Given the description of an element on the screen output the (x, y) to click on. 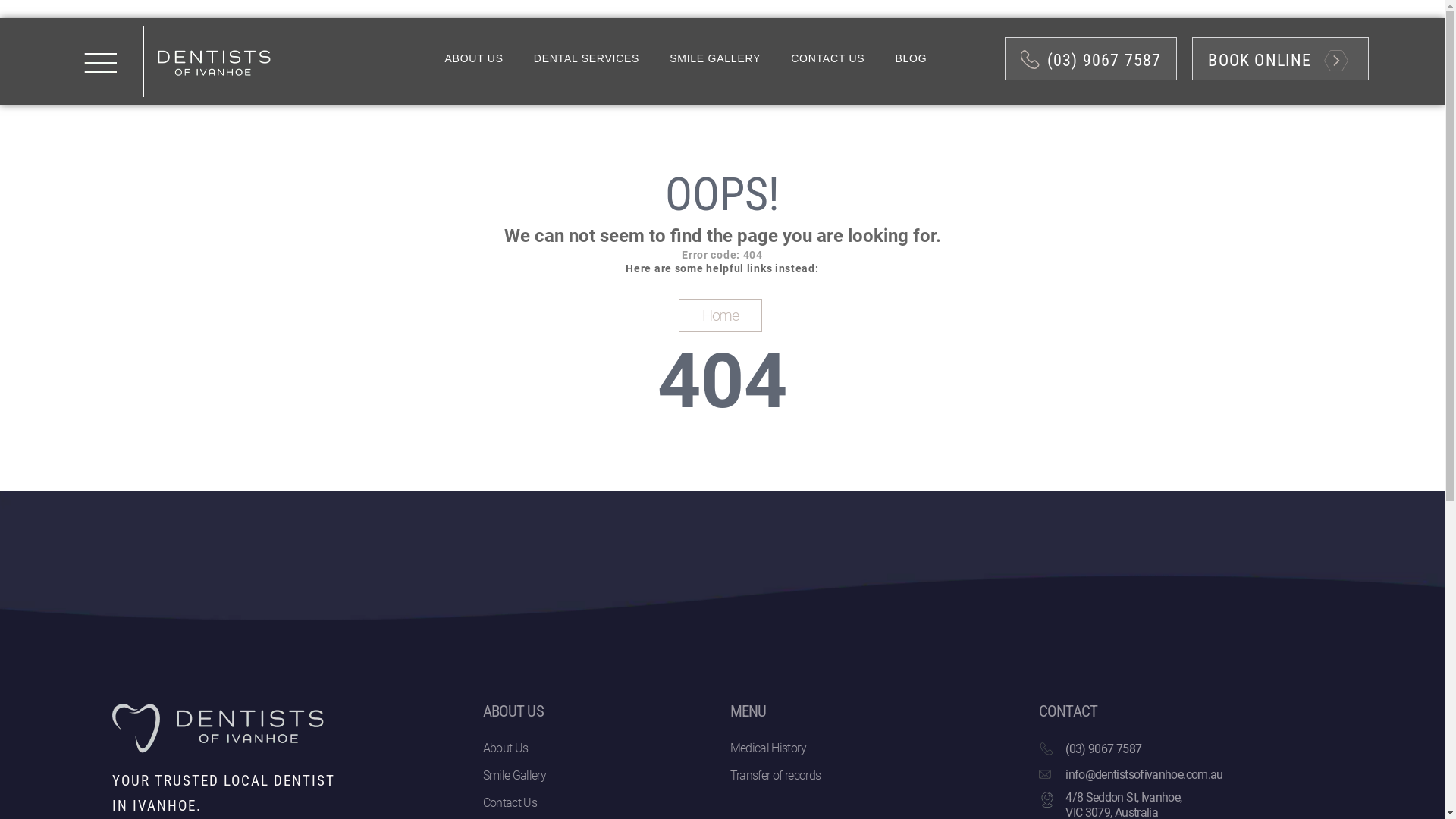
info@dentistsofivanhoe.com.au Element type: text (1143, 774)
ABOUT US Element type: text (473, 57)
CONTACT US Element type: text (827, 57)
BOOK ONLINE Element type: text (1280, 58)
Medical History Element type: text (876, 748)
About Us Element type: text (598, 748)
Home Element type: text (720, 315)
Smile Gallery Element type: text (598, 775)
SMILE GALLERY Element type: text (714, 57)
Transfer of records Element type: text (876, 775)
DENTAL SERVICES Element type: text (586, 57)
Contact Us Element type: text (598, 802)
BLOG Element type: text (910, 57)
(03) 9067 7587 Element type: text (1090, 58)
